Given the description of an element on the screen output the (x, y) to click on. 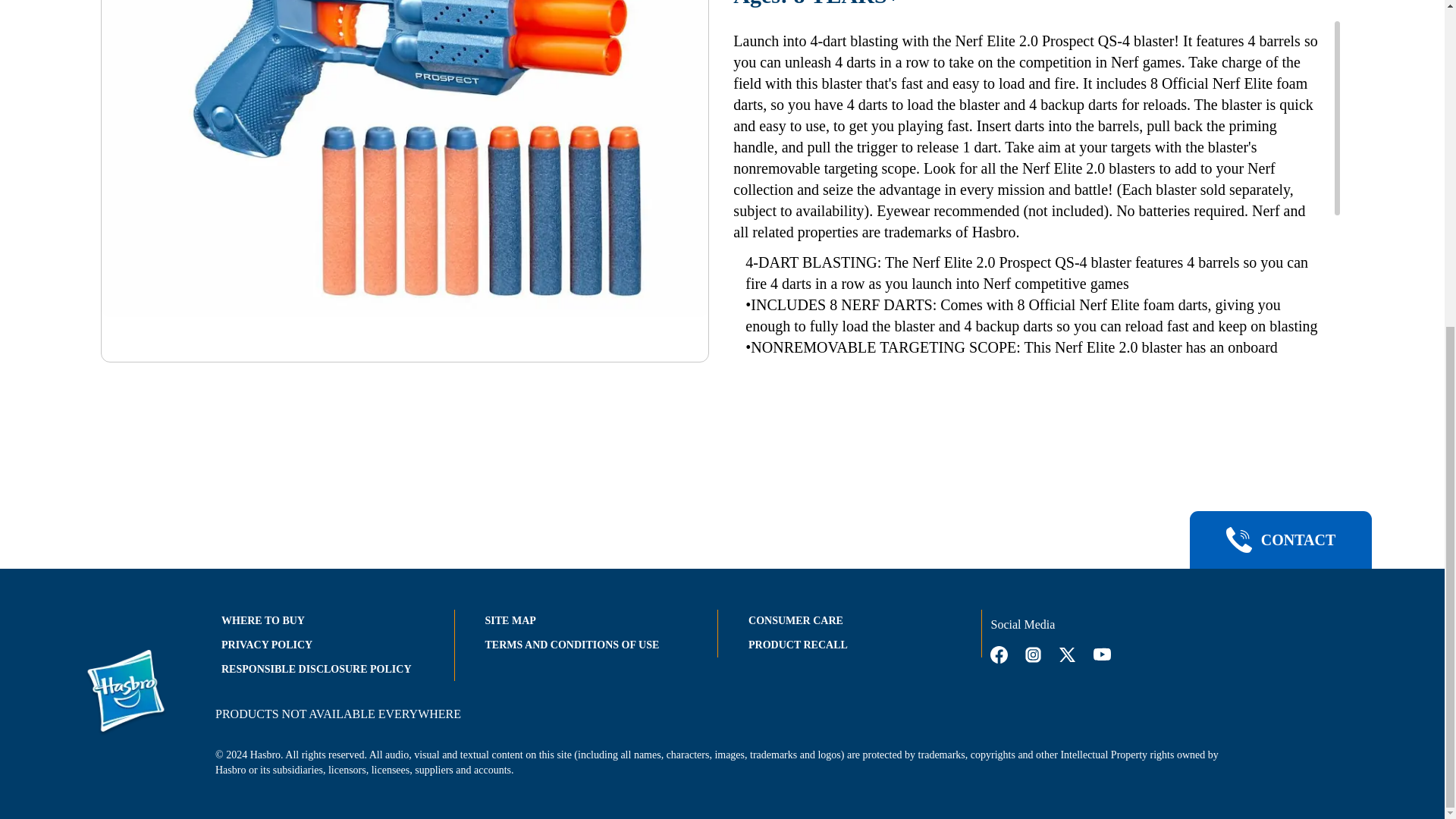
PRIVACY POLICY (267, 644)
SITE MAP (509, 620)
TERMS AND CONDITIONS OF USE (571, 644)
RESPONSIBLE DISCLOSURE POLICY (316, 668)
WHERE TO BUY (262, 620)
PRODUCT RECALL (797, 644)
CONSUMER CARE (795, 620)
